Given the description of an element on the screen output the (x, y) to click on. 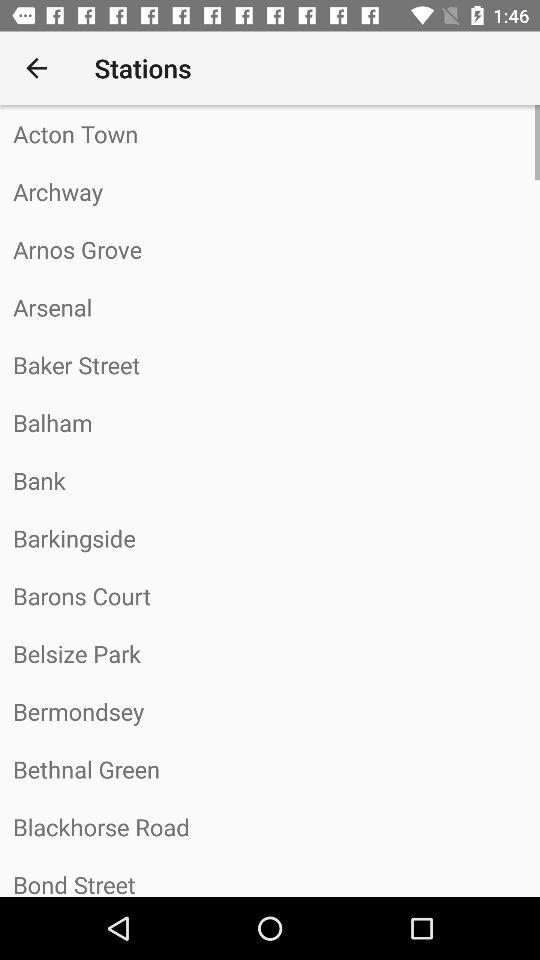
open icon below the bethnal green item (270, 827)
